Given the description of an element on the screen output the (x, y) to click on. 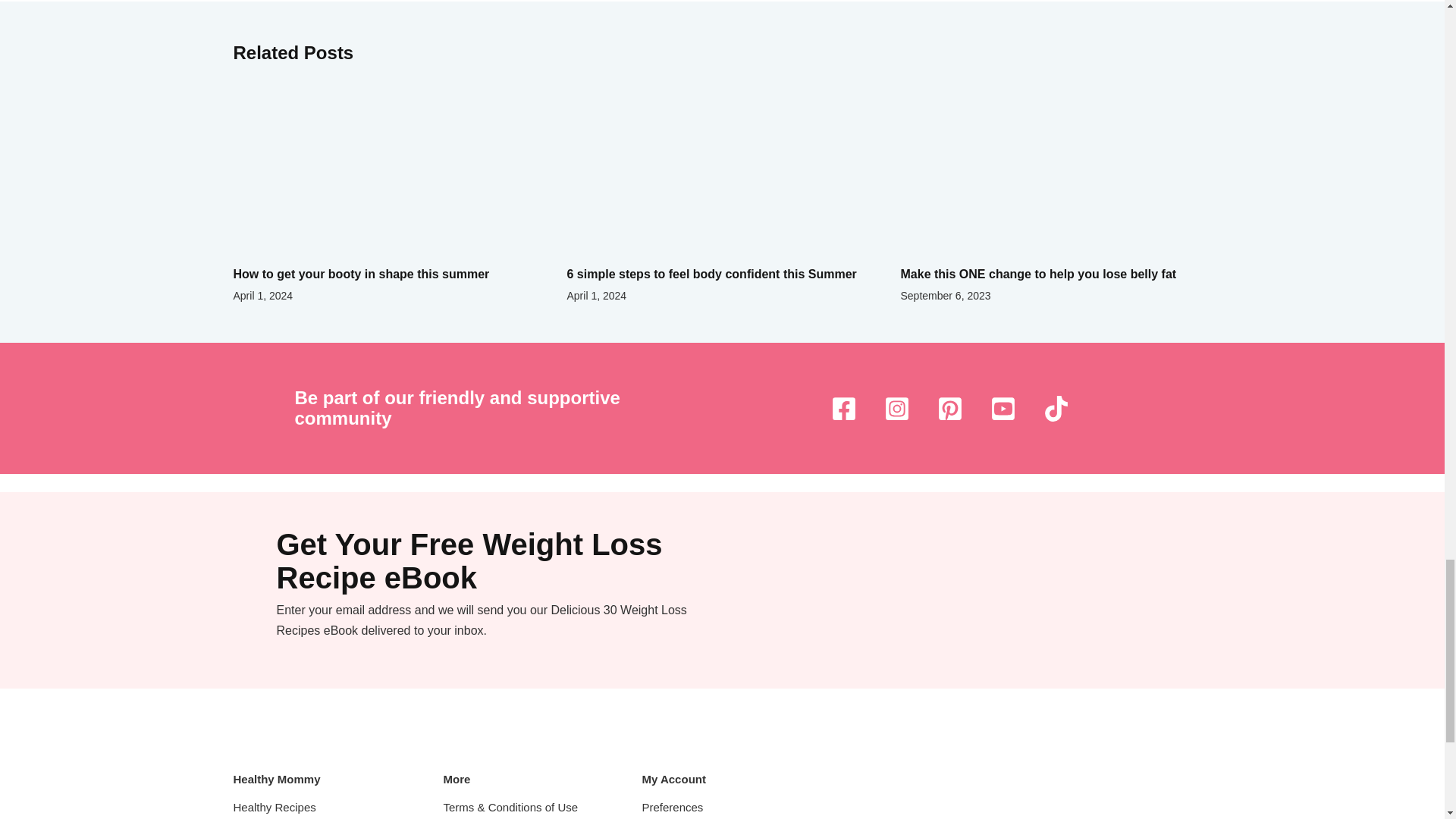
Tiktok (1055, 408)
Snapchat (1003, 408)
Pinterest (950, 408)
Instagram (896, 408)
Facebook (844, 408)
